Given the description of an element on the screen output the (x, y) to click on. 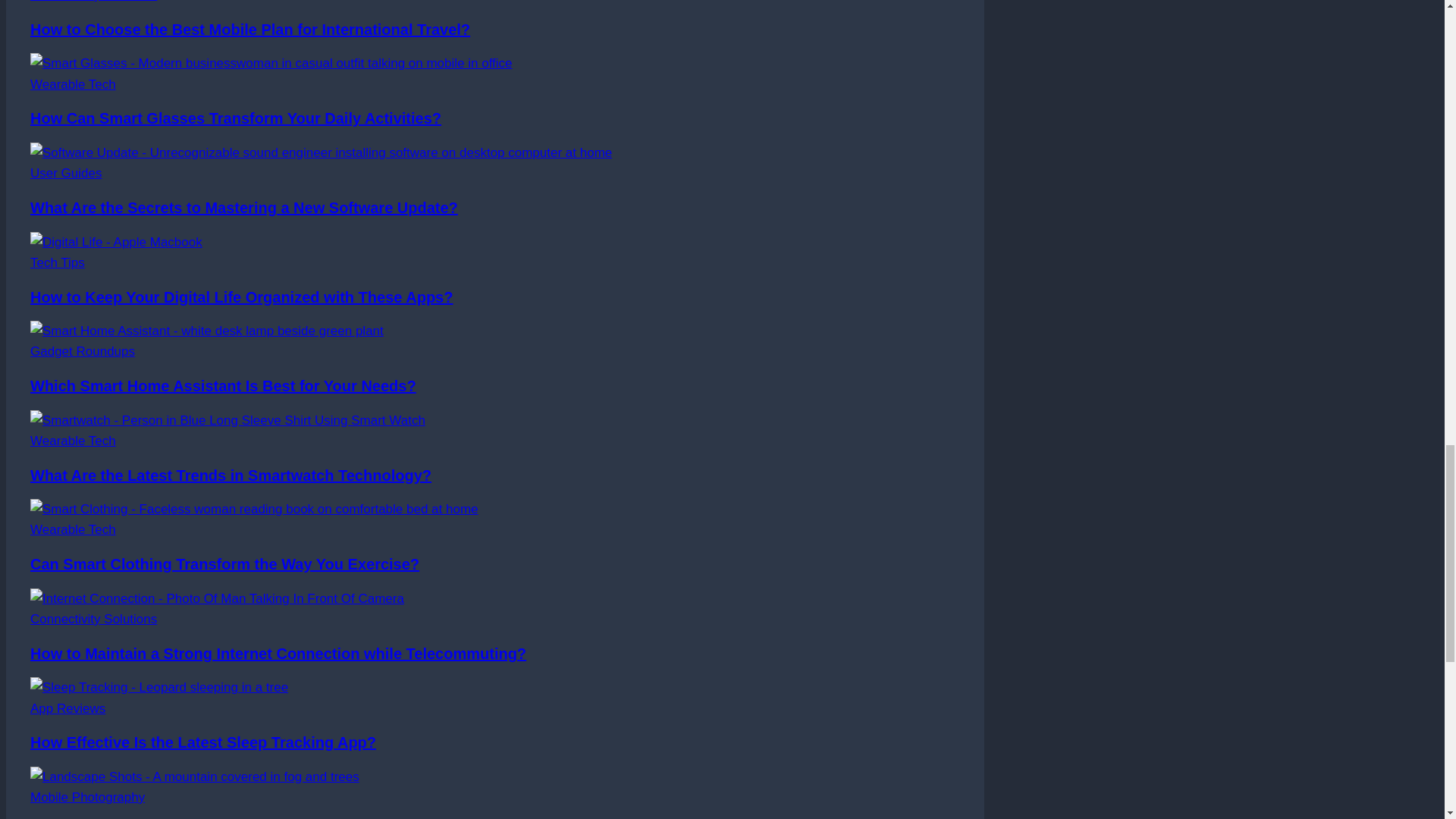
How to Choose the Best Mobile Plan for International Travel? (250, 29)
Wearable Tech (73, 83)
Connectivity Solutions (93, 1)
